Given the description of an element on the screen output the (x, y) to click on. 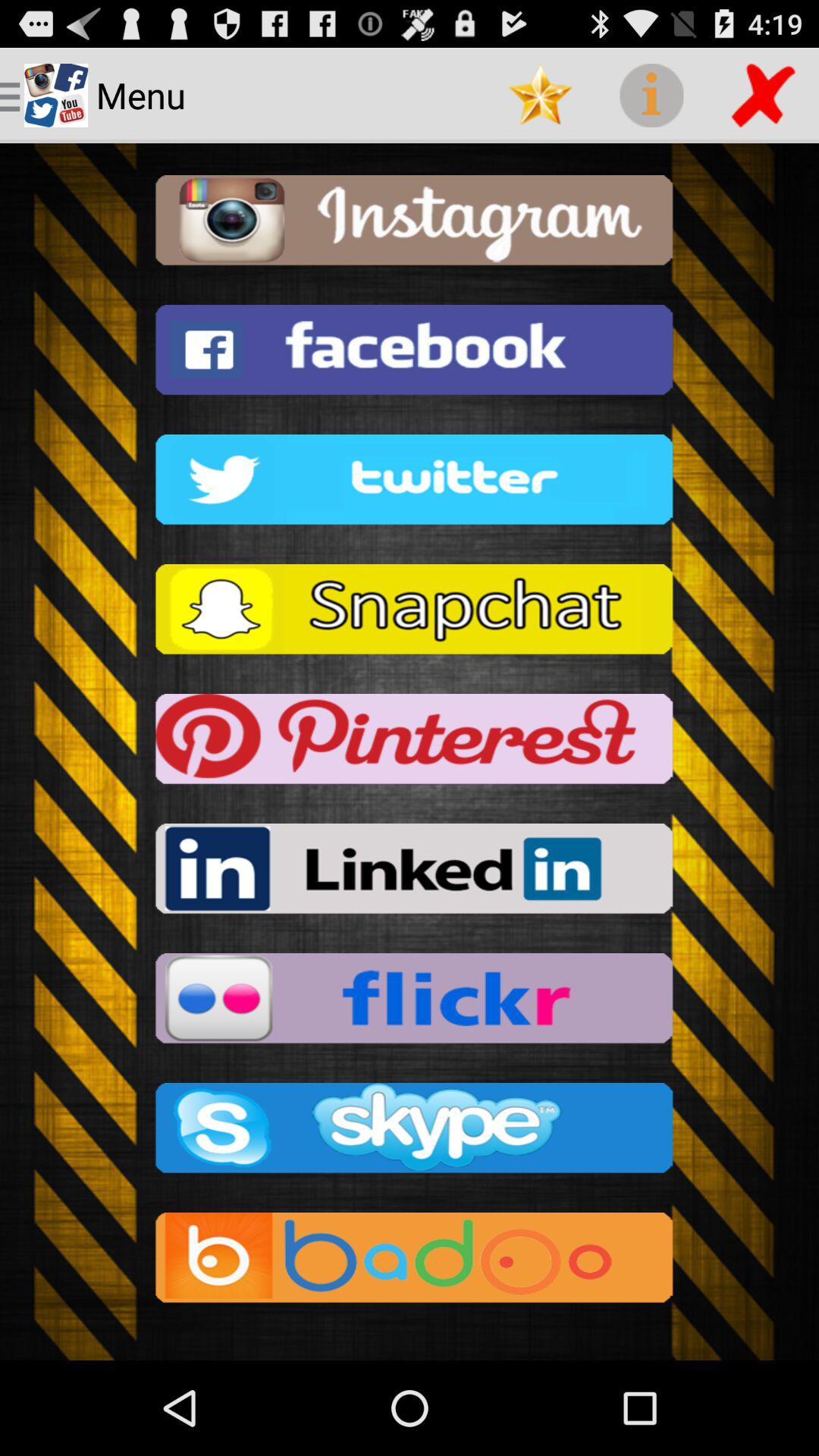
flickr (409, 1002)
